Given the description of an element on the screen output the (x, y) to click on. 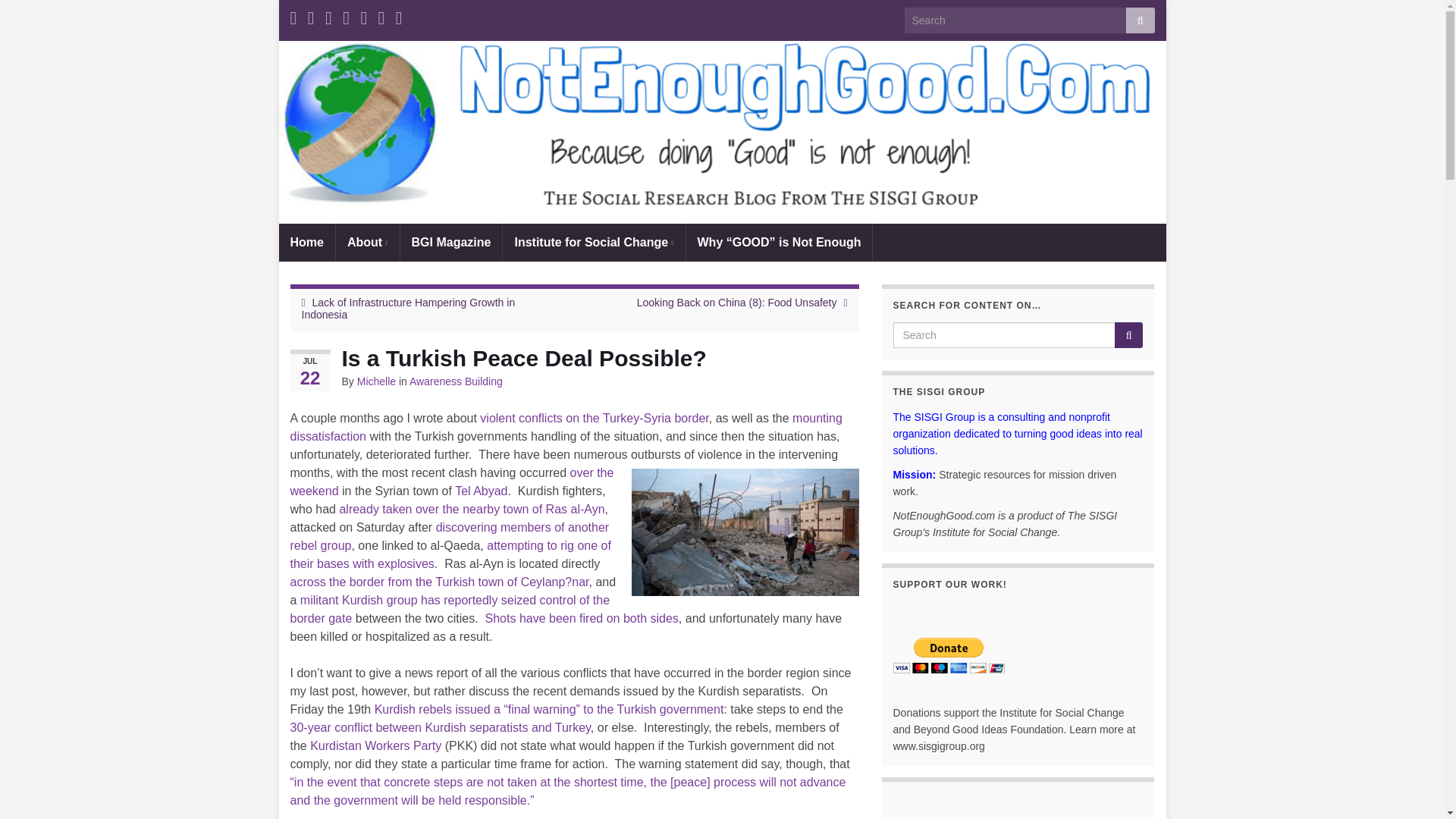
Shots have been fired on both sides (581, 617)
30-year conflict between Kurdish separatists and Turkey (439, 727)
Border Clashes Create Anger in Turkey (565, 427)
Awareness Building (455, 381)
About (367, 242)
discovering members of another rebel group (448, 536)
Institute for Social Change (593, 242)
already taken over the nearby town of Ras al-Ayn (471, 508)
BGI Magazine (451, 242)
Border Clashes Create Anger in Turkey (593, 418)
